Given the description of an element on the screen output the (x, y) to click on. 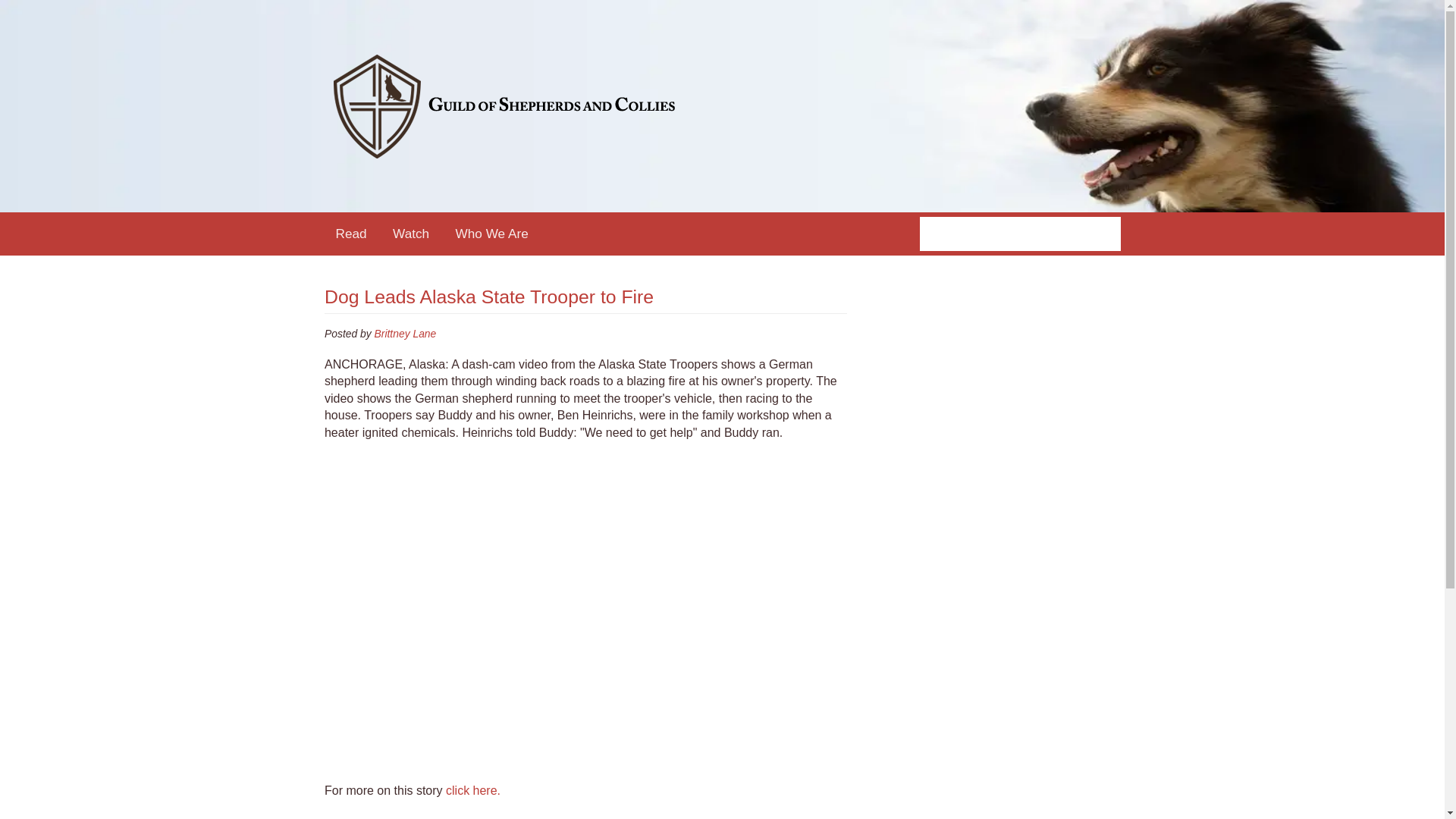
Brittney Lane (405, 333)
click here. (472, 789)
Watch (411, 233)
Read (351, 233)
Who We Are (492, 233)
Posts by Brittney Lane (405, 333)
